Given the description of an element on the screen output the (x, y) to click on. 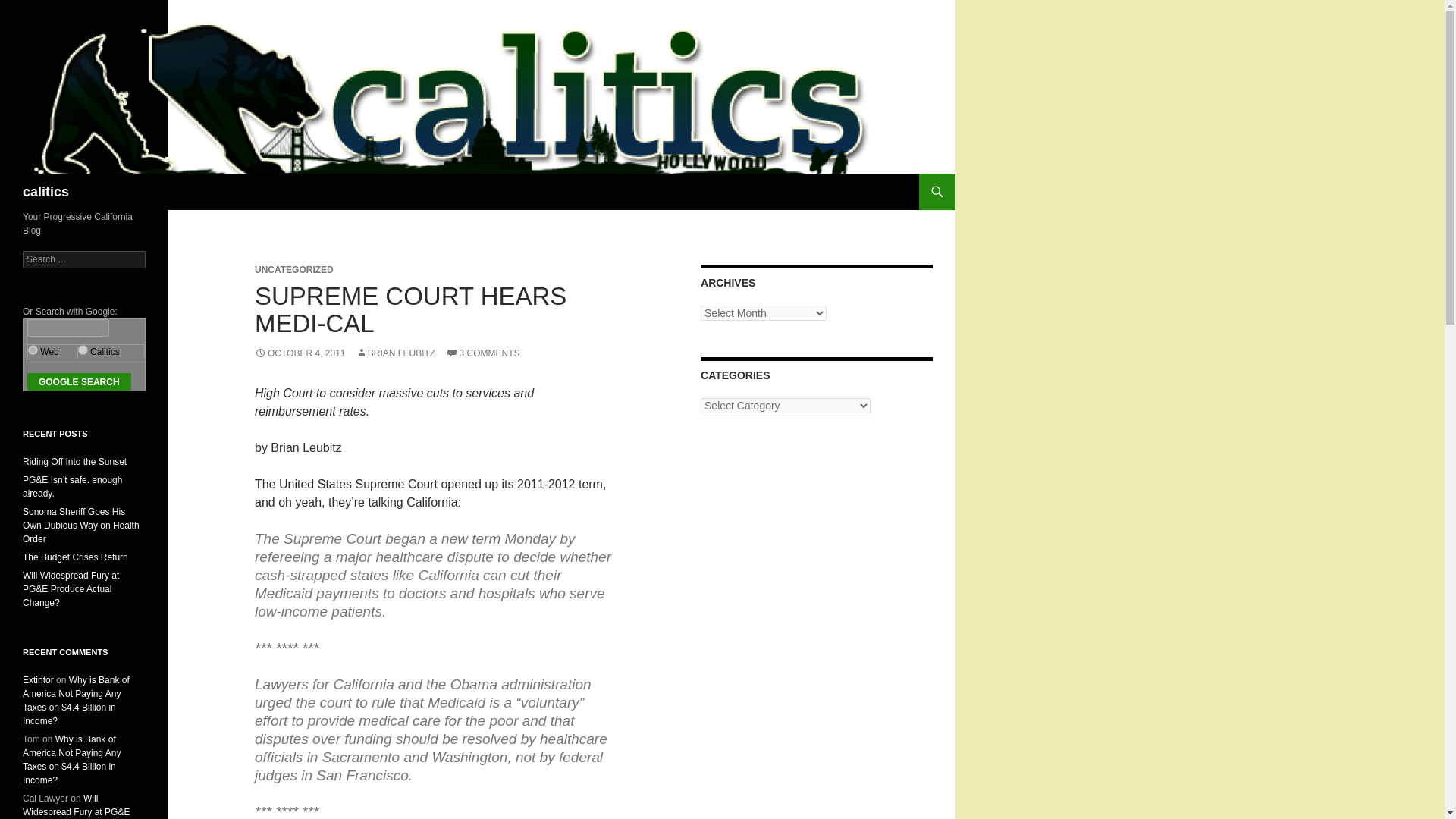
Calitics.com (82, 349)
Extintor (38, 679)
Google Search (79, 381)
3 COMMENTS (482, 353)
calitics (45, 191)
Search (30, 8)
OCTOBER 4, 2011 (300, 353)
BRIAN LEUBITZ (395, 353)
Sonoma Sheriff Goes His Own Dubious Way on Health Order (81, 525)
The Budget Crises Return (75, 557)
Google Search (79, 381)
Riding Off Into the Sunset (74, 461)
